Given the description of an element on the screen output the (x, y) to click on. 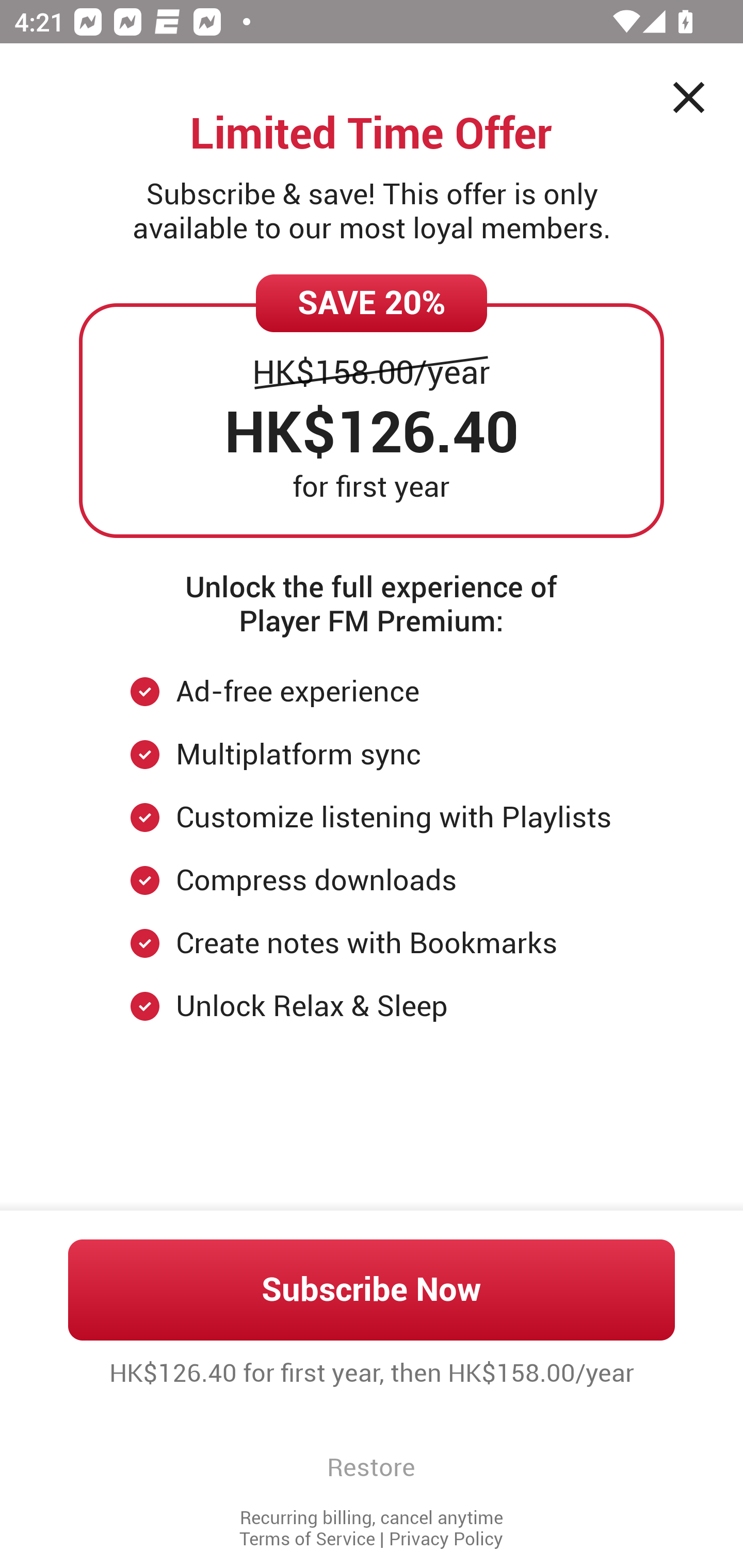
SAVE 20% (371, 303)
Subscribe Now (371, 1289)
Restore (370, 1467)
Terms of Service (307, 1538)
Privacy Policy (446, 1538)
